Given the description of an element on the screen output the (x, y) to click on. 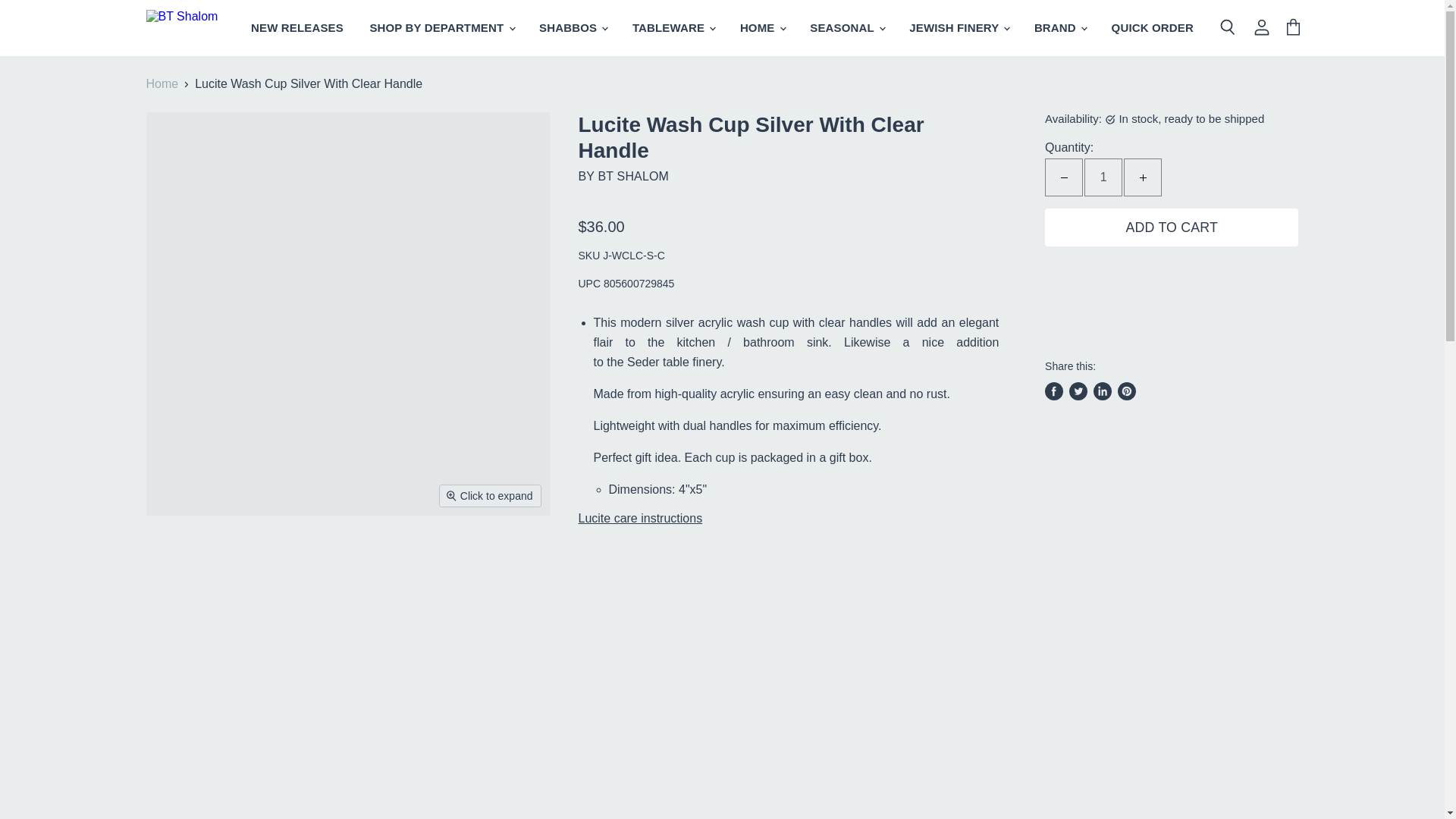
1 (1103, 177)
Cleaning Lucite (788, 672)
BT Shalom (632, 175)
SHOP BY DEPARTMENT (441, 28)
NEW RELEASES (297, 28)
